Given the description of an element on the screen output the (x, y) to click on. 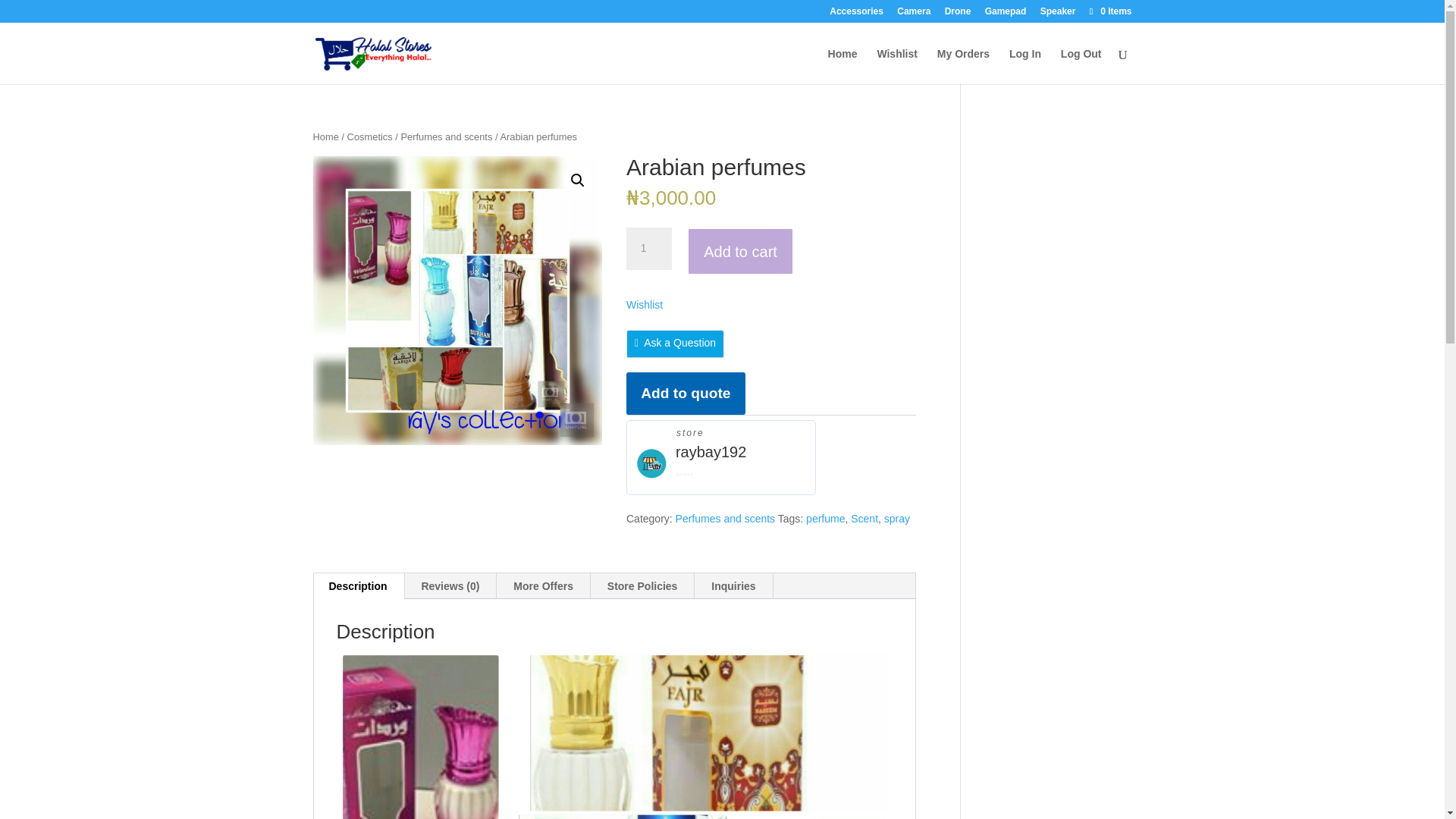
Gamepad (1005, 14)
Add to quote (685, 393)
Wishlist (644, 304)
Description (358, 585)
No reviews yet! (707, 470)
Log Out (1081, 66)
Perfumes and scents (446, 136)
  Ask a Question (674, 343)
Perfumes and scents (725, 518)
1540236378007 (457, 300)
Scent (863, 518)
Drone (957, 14)
Add to cart (740, 251)
Log In (1025, 66)
1 (648, 248)
